Given the description of an element on the screen output the (x, y) to click on. 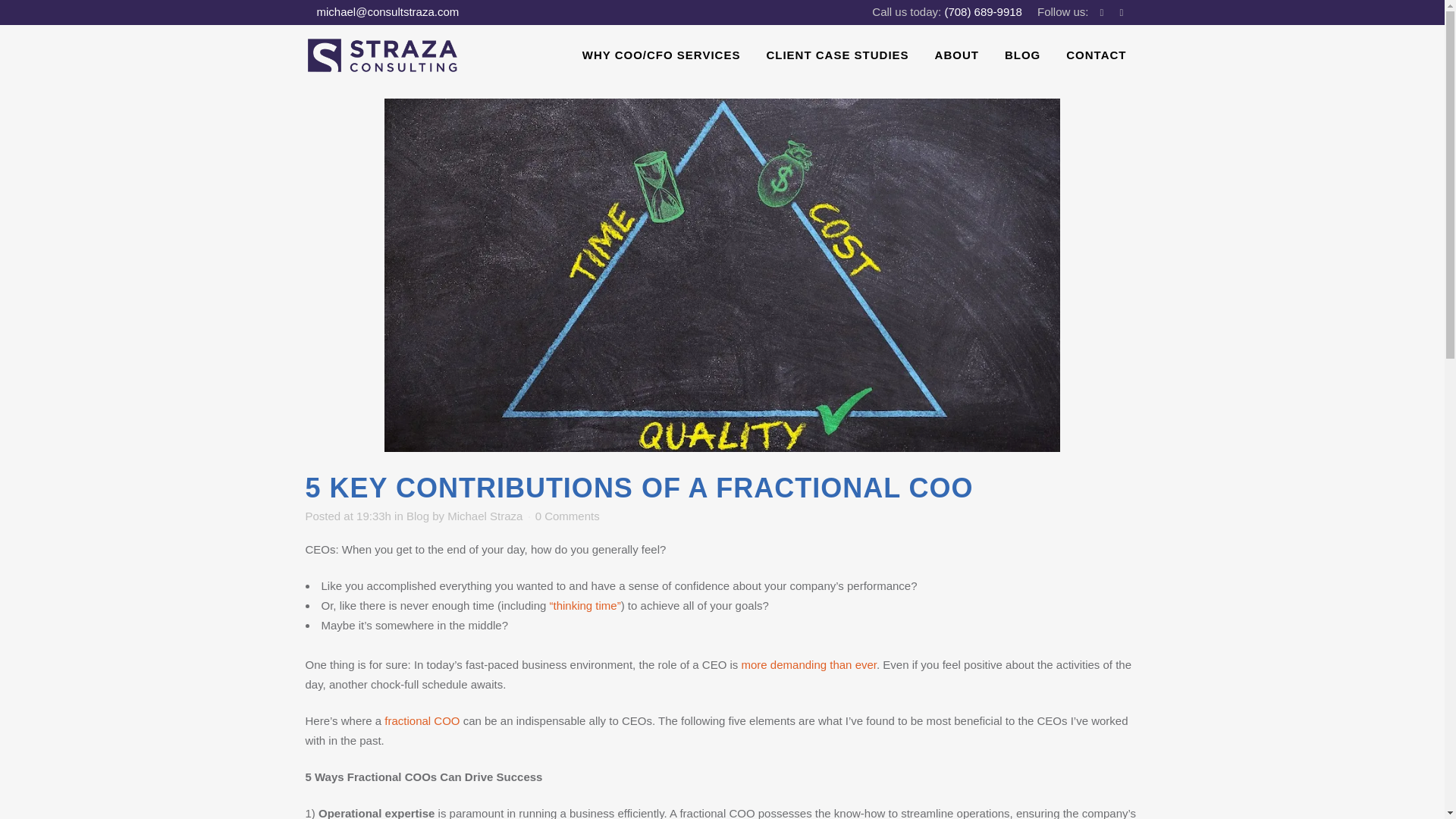
Blog (417, 515)
Michael Straza (484, 515)
BLOG (1021, 55)
CLIENT CASE STUDIES (836, 55)
CONTACT (1095, 55)
ABOUT (956, 55)
fractional COO (422, 720)
more demanding than ever (808, 664)
0 Comments (567, 515)
